Given the description of an element on the screen output the (x, y) to click on. 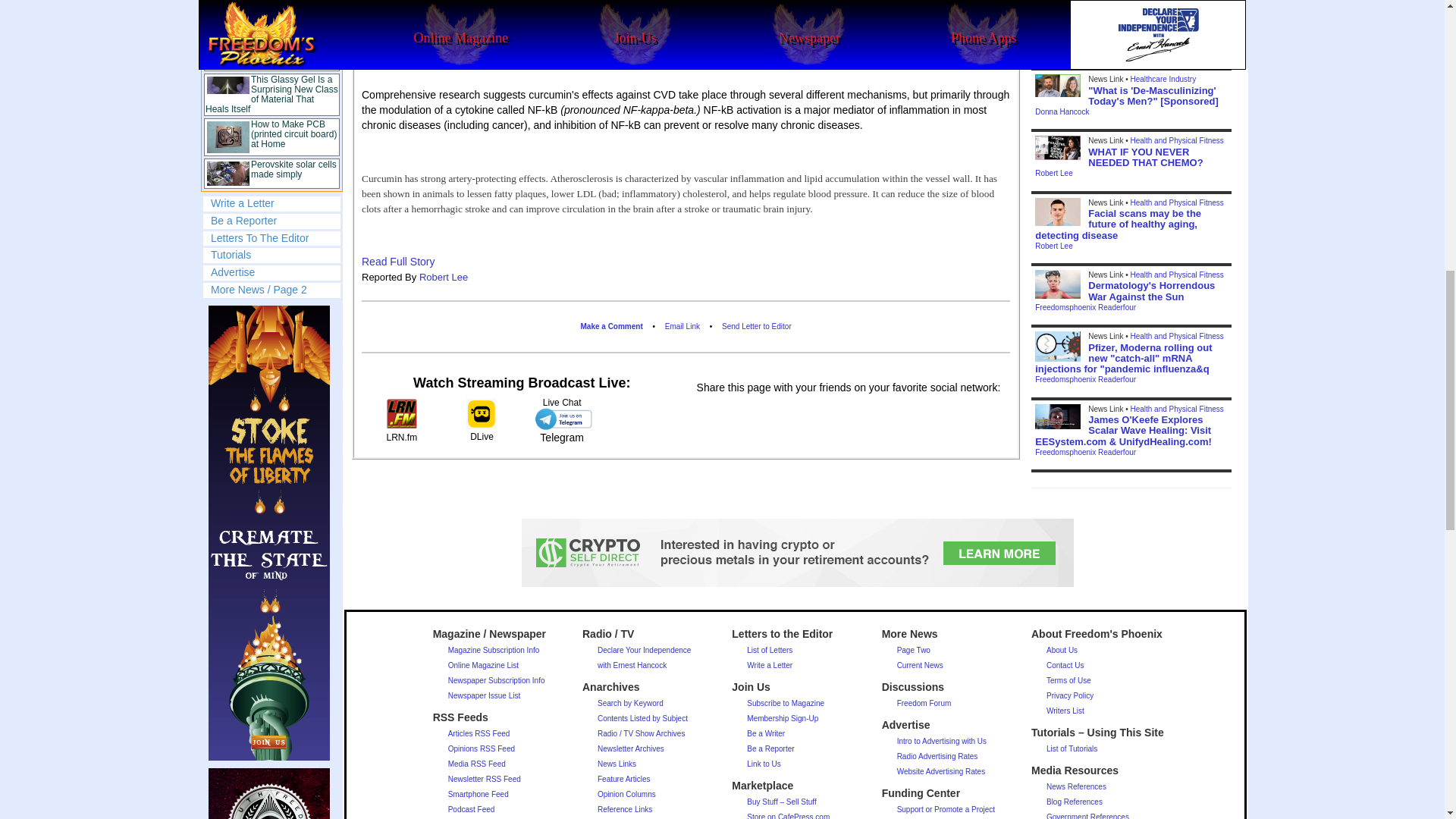
Top Links (271, 95)
